Given the description of an element on the screen output the (x, y) to click on. 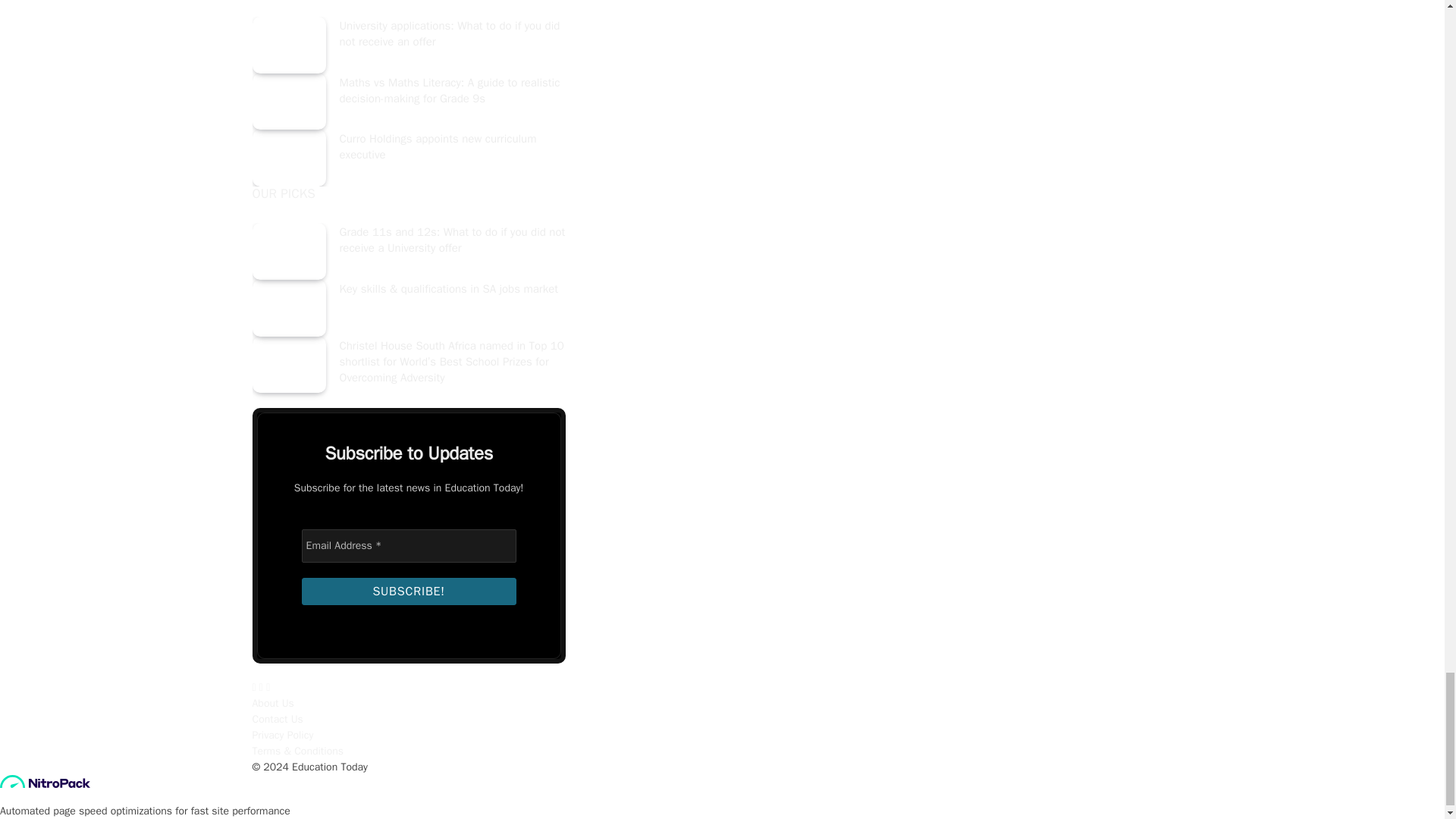
Subscribe! (408, 591)
